Given the description of an element on the screen output the (x, y) to click on. 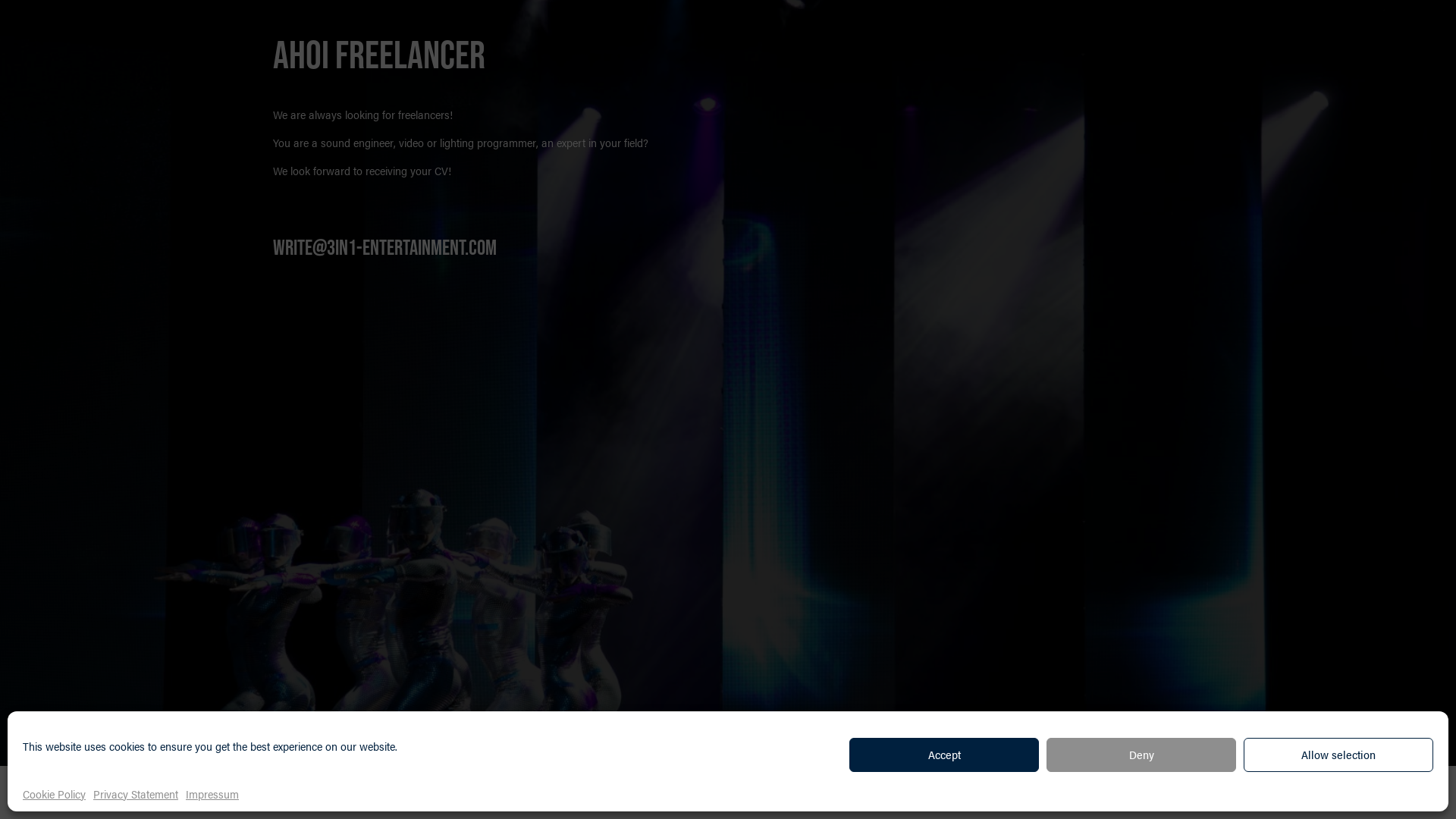
Backstage Element type: text (304, 792)
WRITE@3IN1-ENTERTAINMENT.COM Element type: text (384, 247)
Accept Element type: text (943, 754)
Onstage Element type: text (398, 792)
Allow selection Element type: text (1338, 754)
Cookie Policy Element type: text (53, 793)
Impressum Element type: text (211, 793)
Deny Element type: text (1141, 754)
Privacy Statement Element type: text (135, 793)
